Given the description of an element on the screen output the (x, y) to click on. 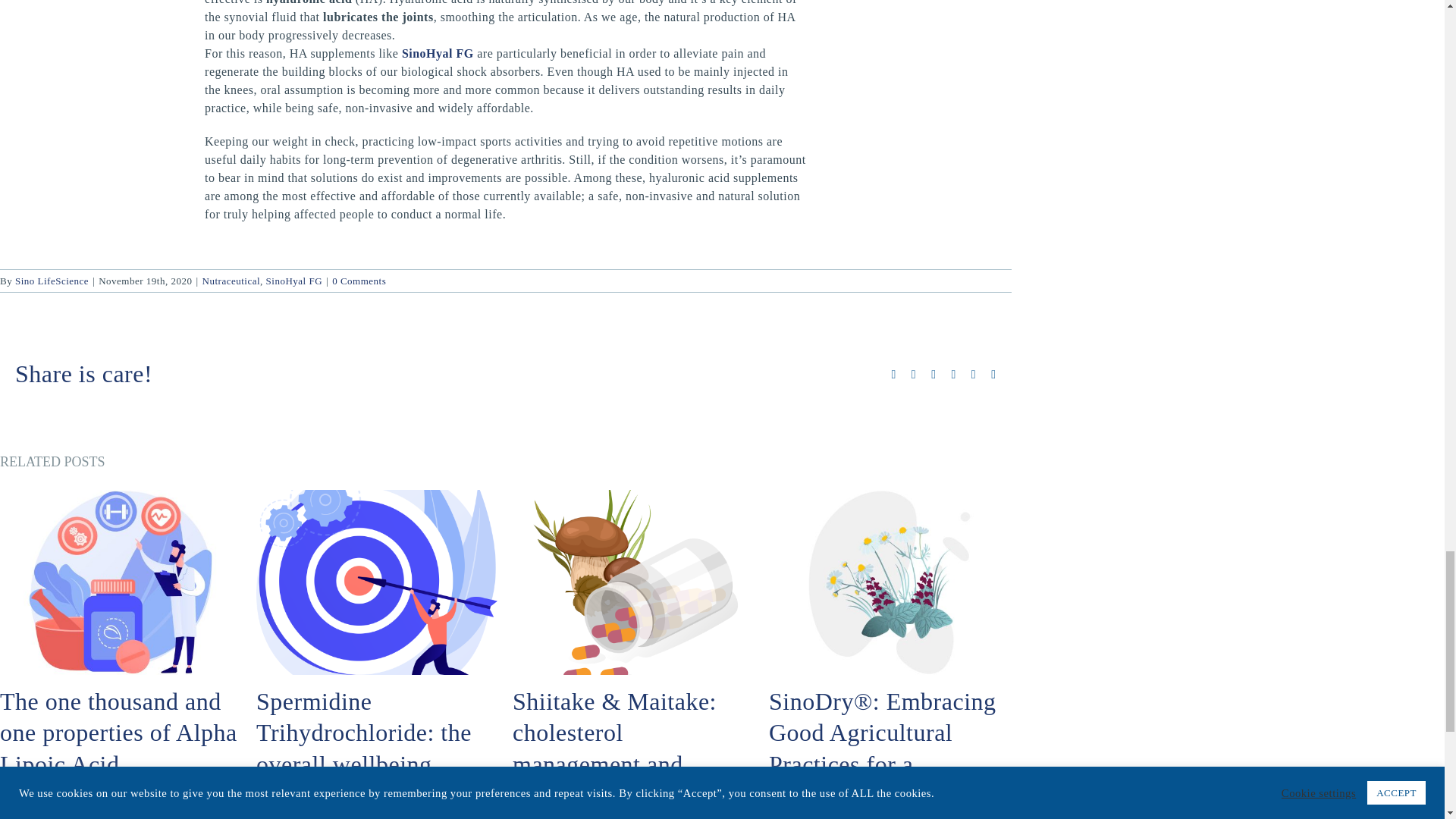
The one thousand and one properties of Alpha Lipoic Acid (118, 732)
Sino LifeScience (51, 280)
SinoHyal FG (437, 52)
Posts by Sino LifeScience (51, 280)
